Given the description of an element on the screen output the (x, y) to click on. 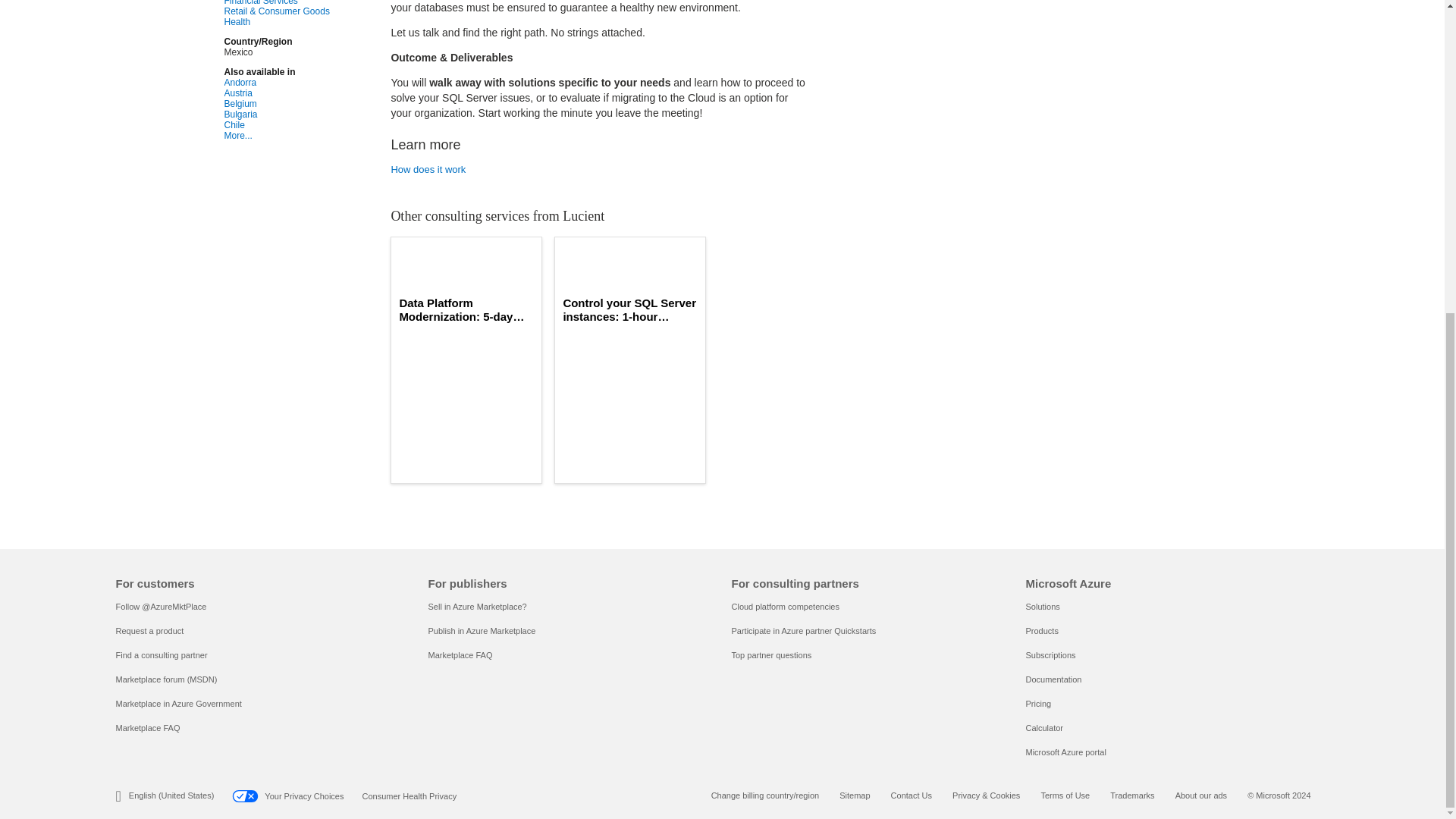
Chile (296, 124)
Data Platform Modernization: 5-day assessment (466, 309)
Belgium (296, 103)
Health (296, 21)
Andorra (296, 81)
Bulgaria (296, 113)
Financial Services (296, 2)
Control your SQL Server instances: 1-hour briefing (629, 309)
Austria (296, 92)
